Given the description of an element on the screen output the (x, y) to click on. 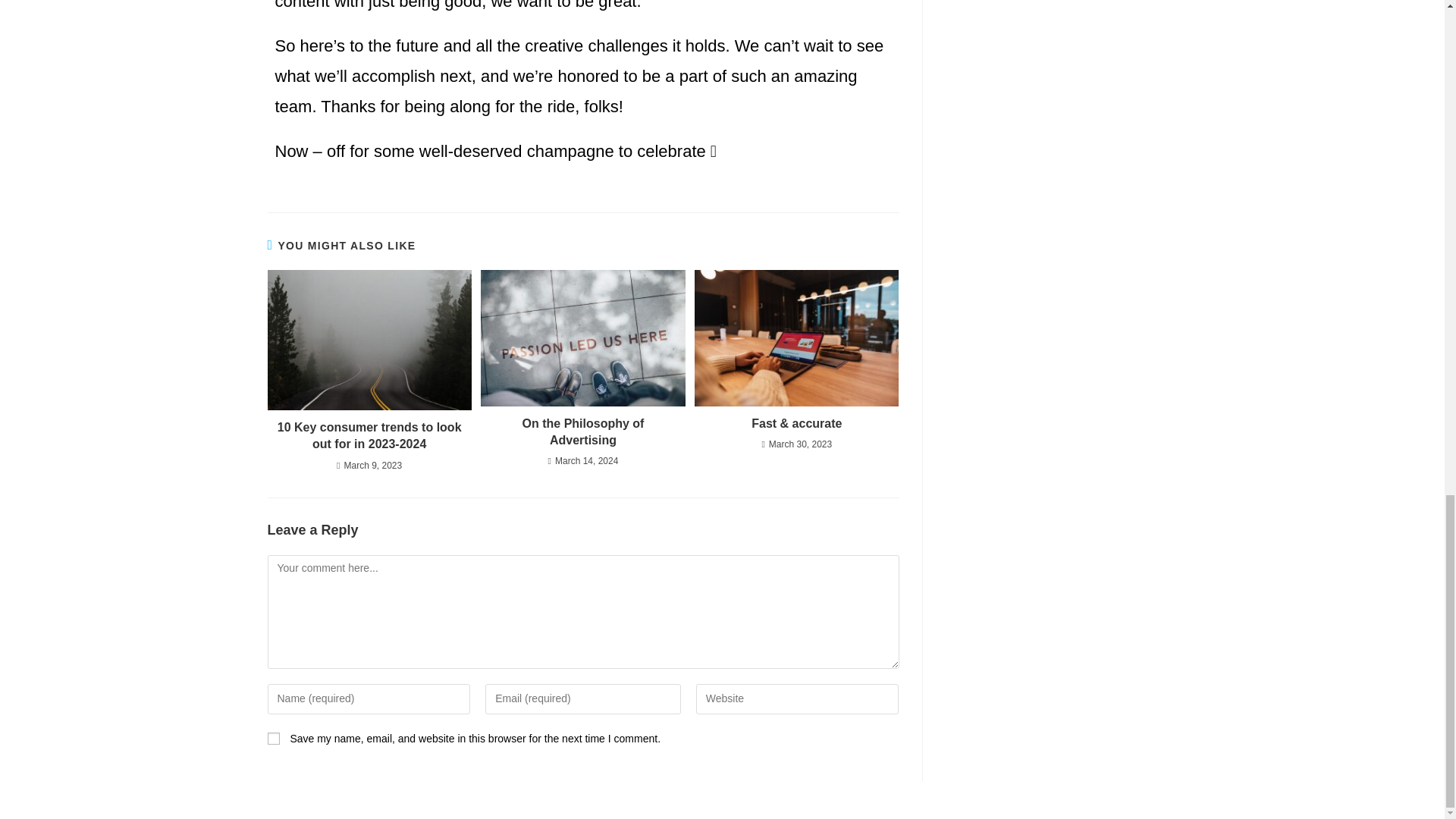
10 Key consumer trends to look out for in 2023-2024 (368, 436)
yes (272, 738)
On the Philosophy of Advertising (582, 431)
